Given the description of an element on the screen output the (x, y) to click on. 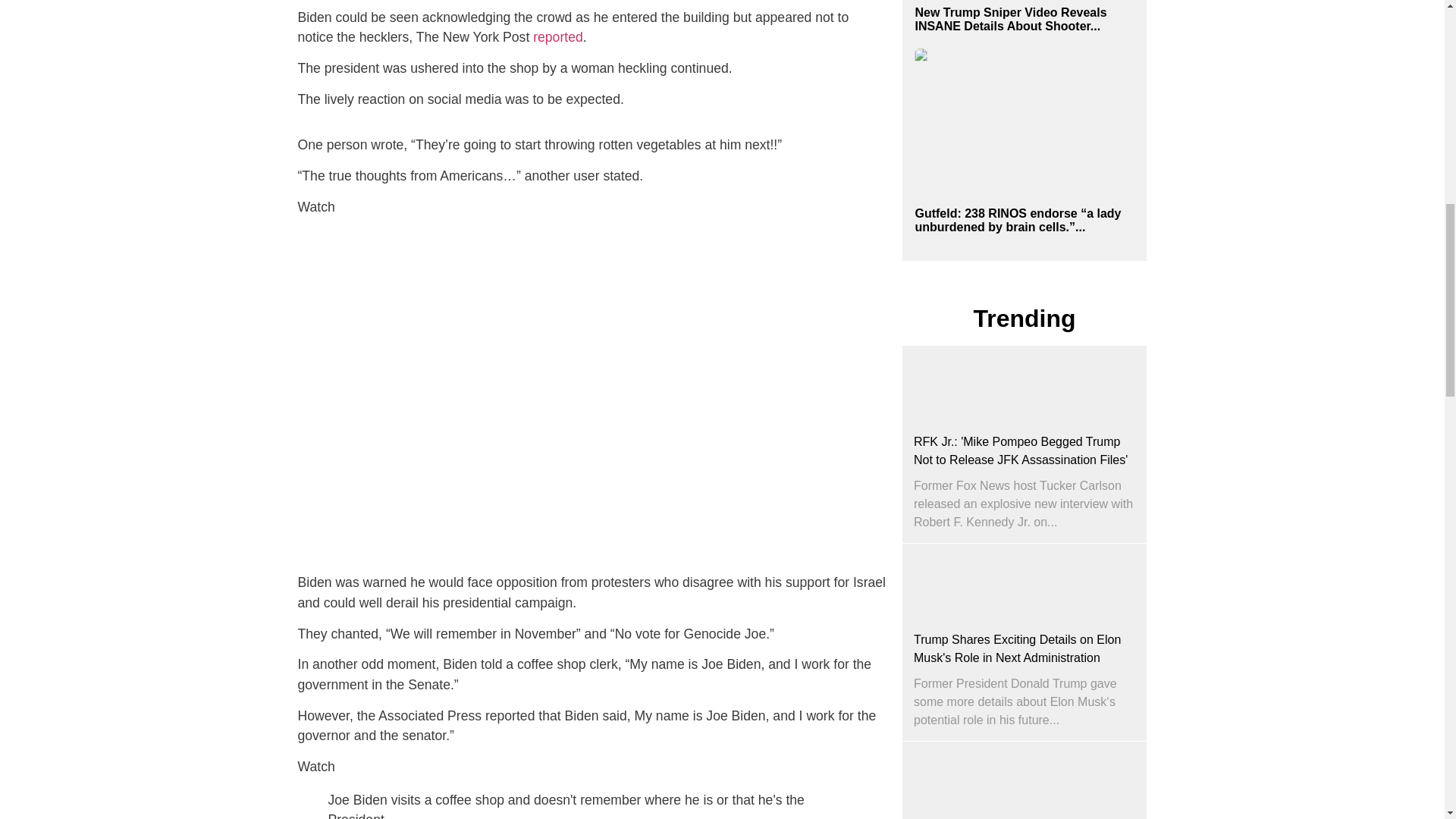
reported (557, 37)
